Given the description of an element on the screen output the (x, y) to click on. 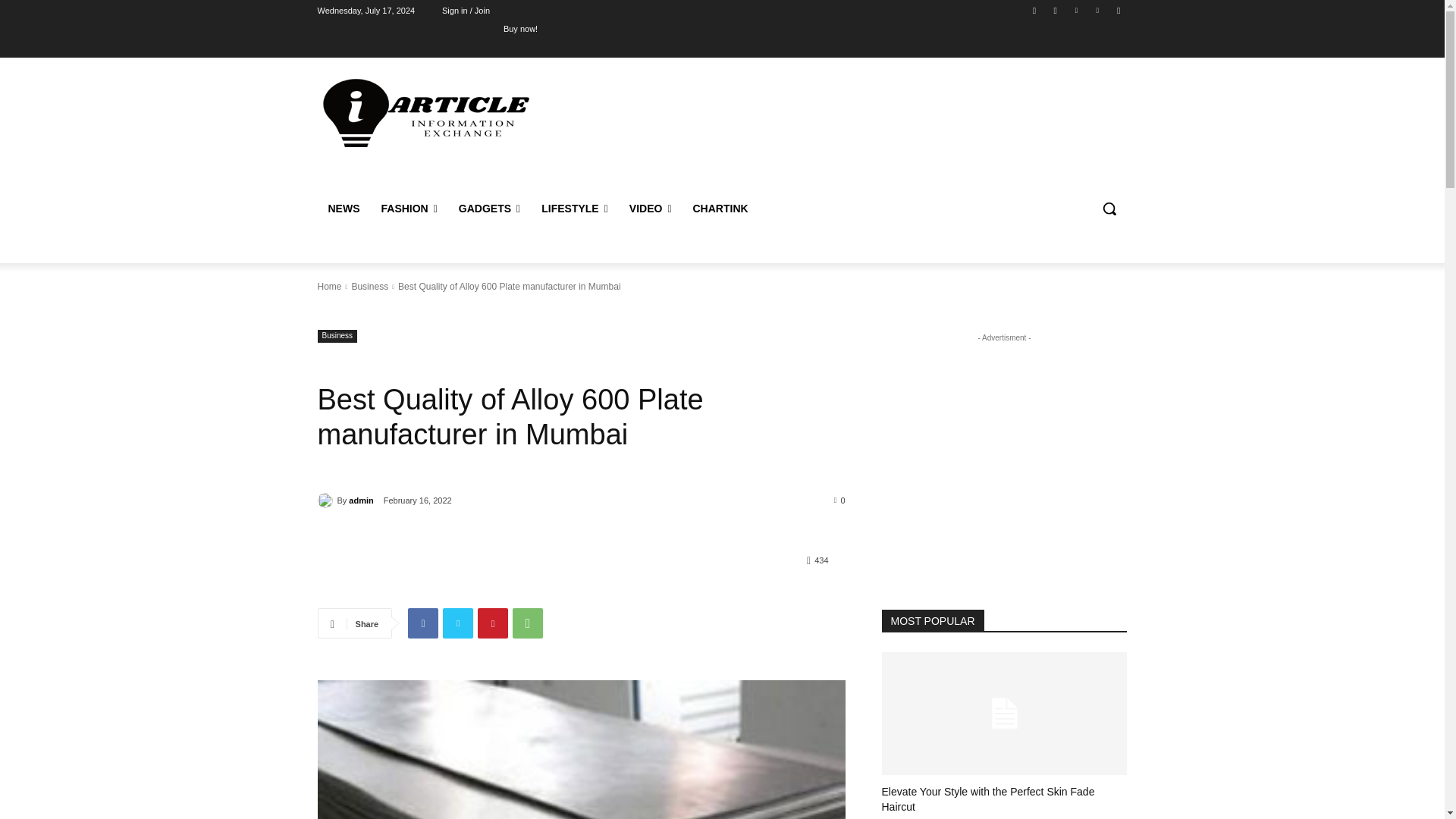
Twitter (1075, 9)
NEWS (343, 208)
FASHION (407, 208)
Vimeo (1097, 9)
Facebook (1034, 9)
Instagram (1055, 9)
Youtube (1117, 9)
Buy now! (520, 28)
